Given the description of an element on the screen output the (x, y) to click on. 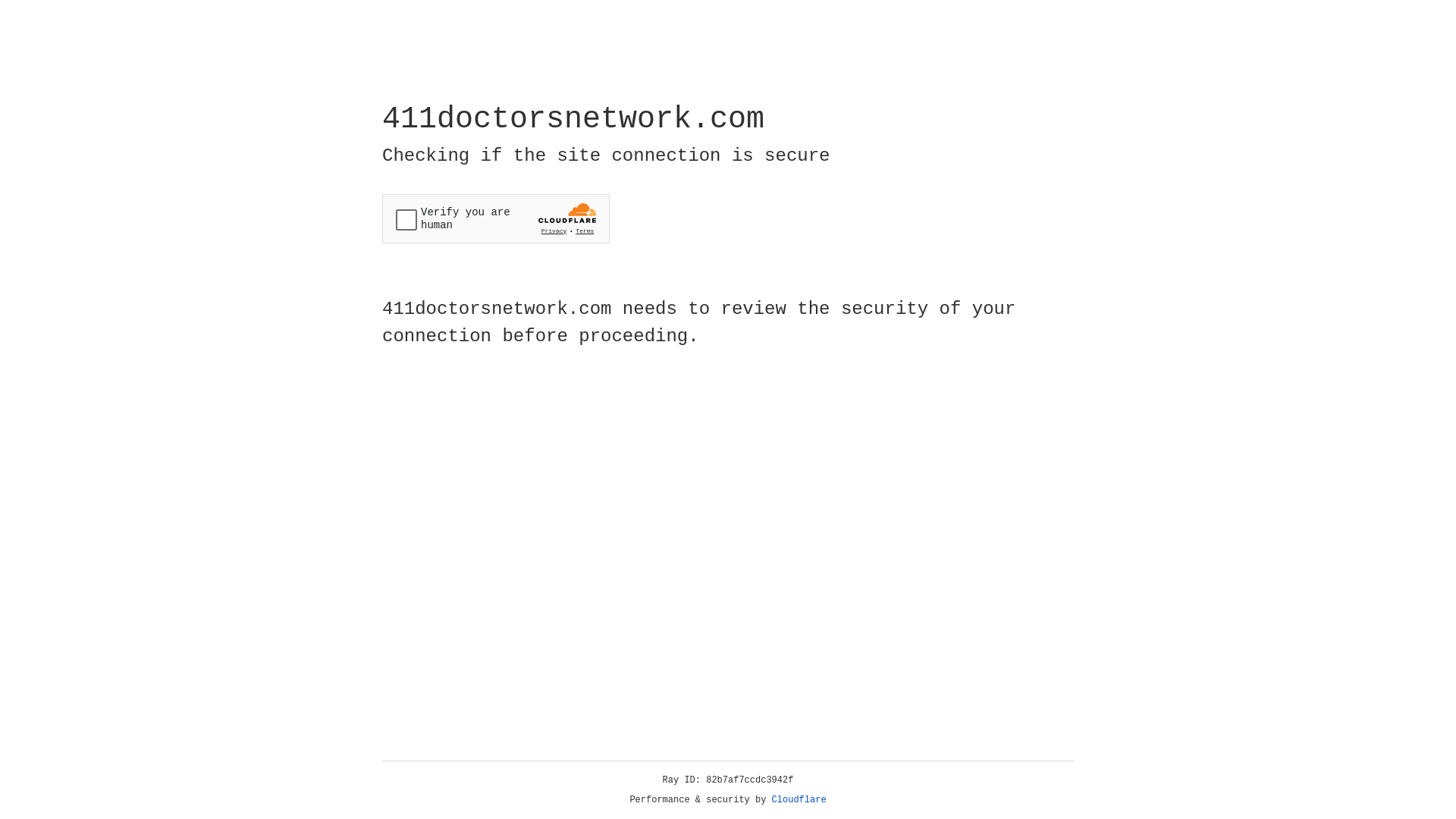
Widget containing a Cloudflare security challenge Element type: hover (495, 218)
Cloudflare Element type: text (798, 799)
